Given the description of an element on the screen output the (x, y) to click on. 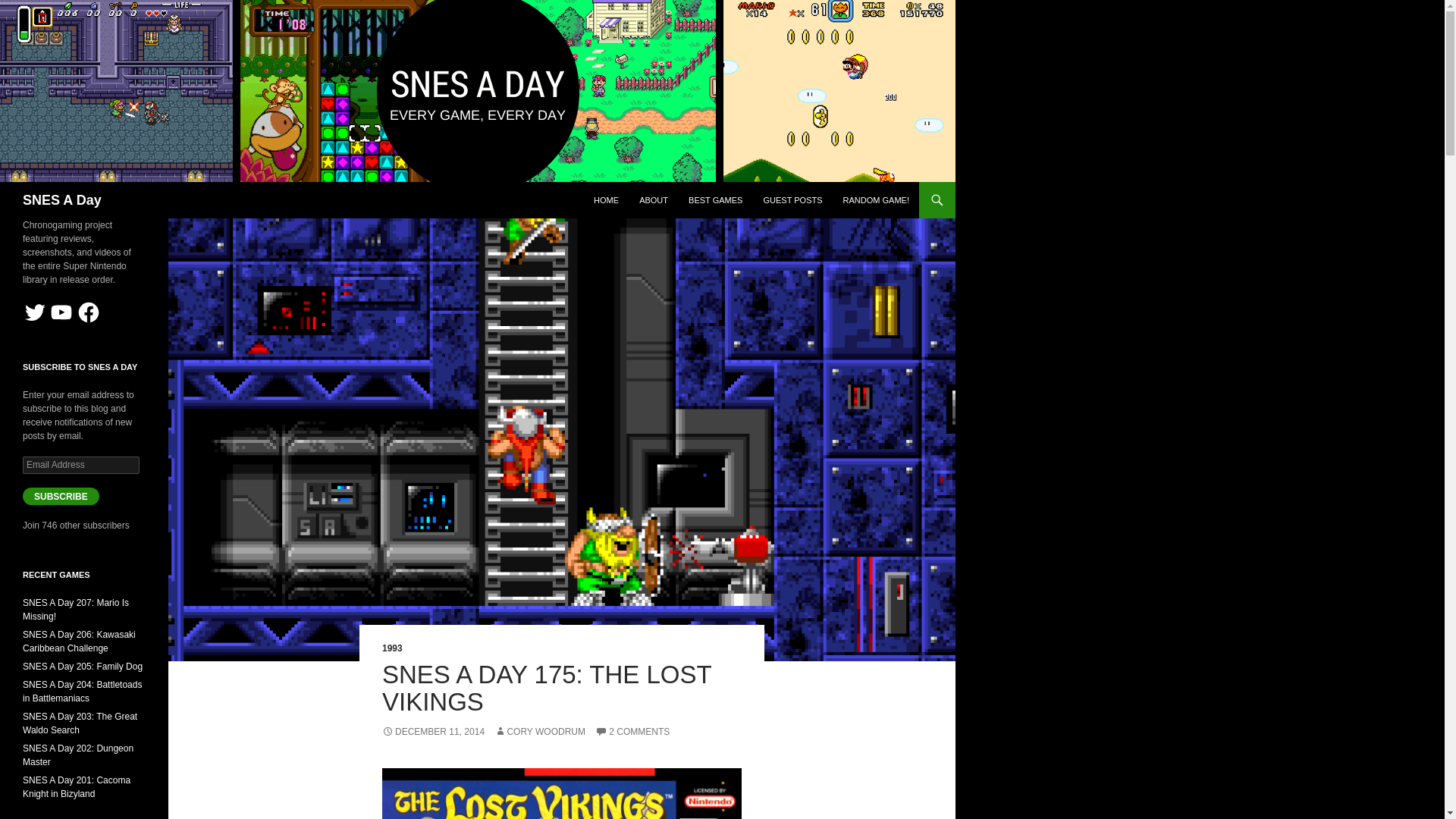
RANDOM GAME! (876, 199)
CORY WOODRUM (540, 731)
SNES A Day (62, 199)
ABOUT (653, 199)
BEST GAMES (715, 199)
DECEMBER 11, 2014 (432, 731)
GUEST POSTS (792, 199)
HOME (606, 199)
2 COMMENTS (632, 731)
1993 (392, 647)
